Given the description of an element on the screen output the (x, y) to click on. 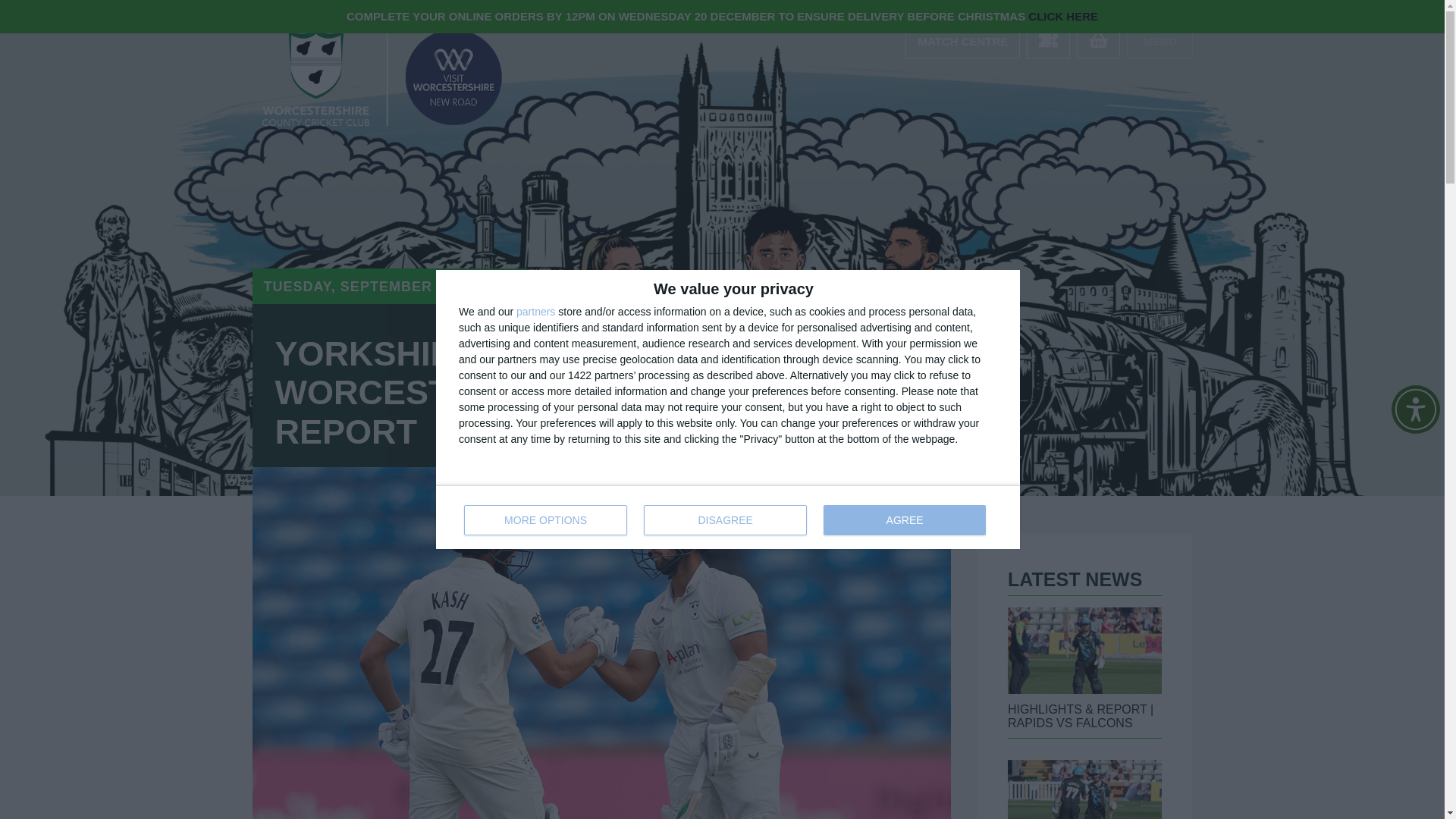
CLICK HERE (1062, 15)
Accessibility Menu (1415, 409)
MORE OPTIONS (545, 520)
DISAGREE (724, 520)
Get tickets (1048, 40)
MENU (1159, 40)
MATCH CENTRE (962, 40)
View account (962, 40)
View shop (1098, 40)
AGREE (727, 516)
partners (904, 520)
